Given the description of an element on the screen output the (x, y) to click on. 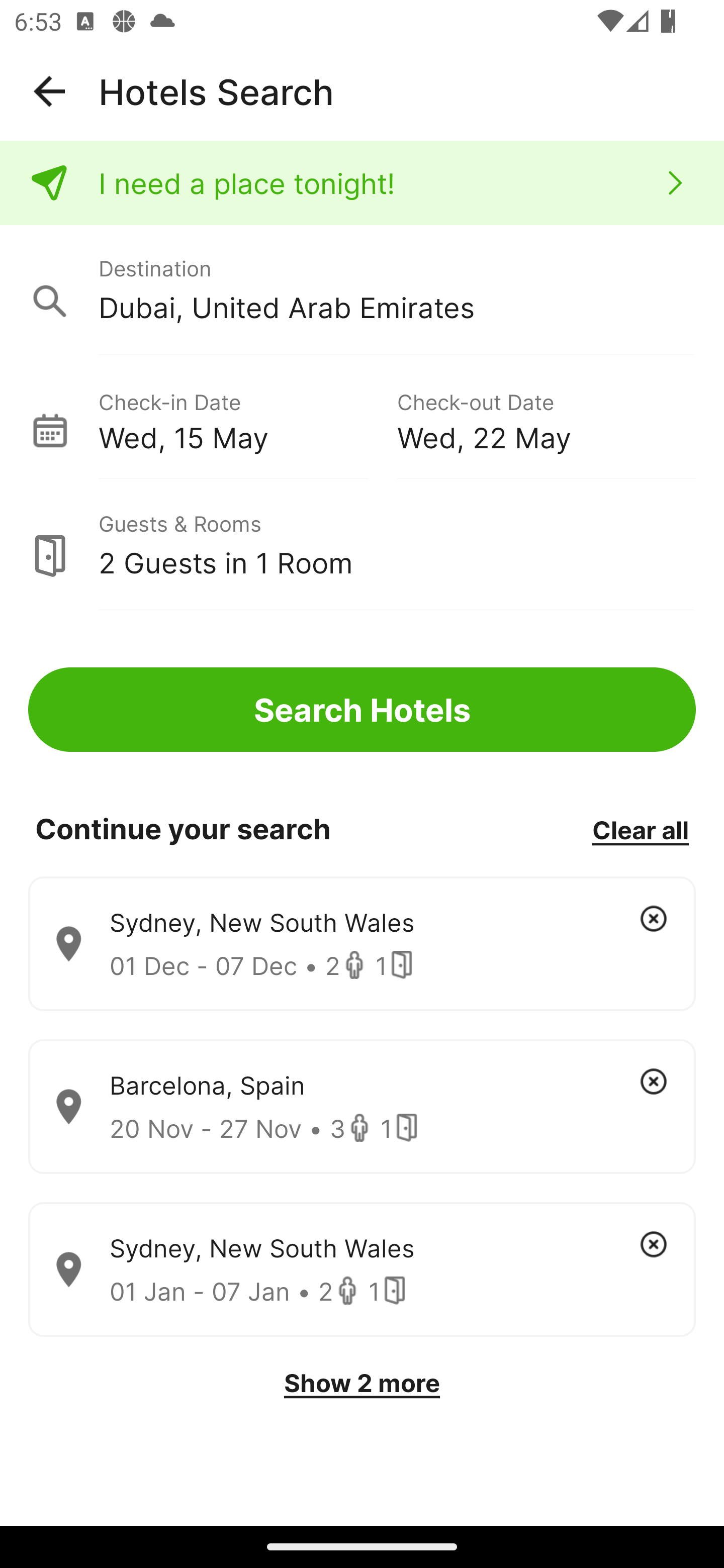
I need a place tonight! (362, 183)
Destination Dubai, United Arab Emirates (362, 290)
Check-in Date Wed, 15 May (247, 418)
Check-out Date Wed, 22 May (546, 418)
Guests & Rooms 2 Guests in 1 Room (362, 545)
Search Hotels (361, 709)
Clear all (640, 829)
Sydney, New South Wales 01 Dec - 07 Dec • 2  1  (361, 943)
Barcelona, Spain 20 Nov - 27 Nov • 3  1  (361, 1106)
Sydney, New South Wales 01 Jan - 07 Jan • 2  1  (361, 1269)
Show 2 more (362, 1382)
